Given the description of an element on the screen output the (x, y) to click on. 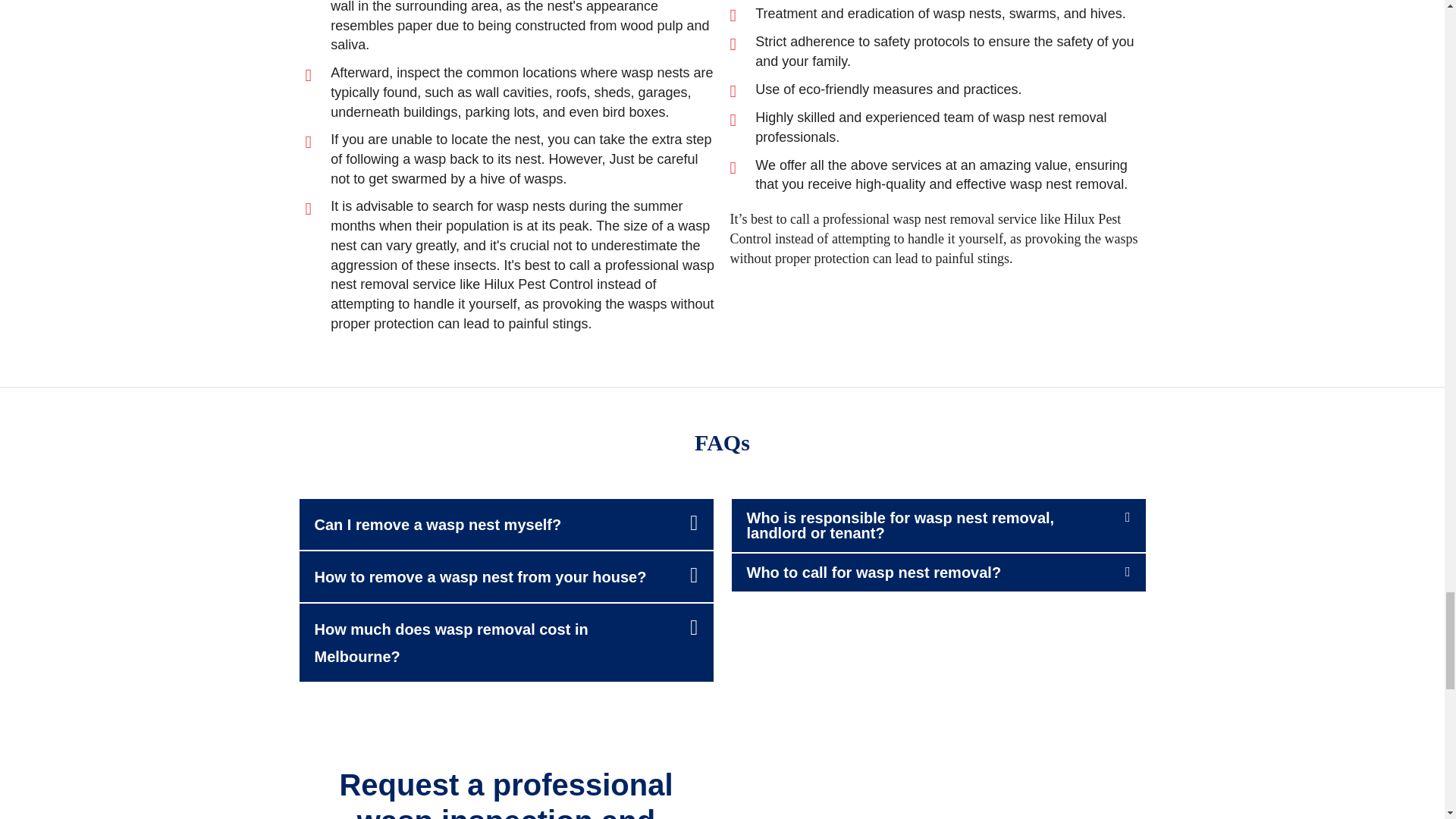
contactMap (938, 792)
Can I remove a wasp nest myself? (437, 524)
How to remove a wasp nest from your house? (480, 576)
Who to call for wasp nest removal? (873, 572)
How much does wasp removal cost in Melbourne? (451, 642)
